Given the description of an element on the screen output the (x, y) to click on. 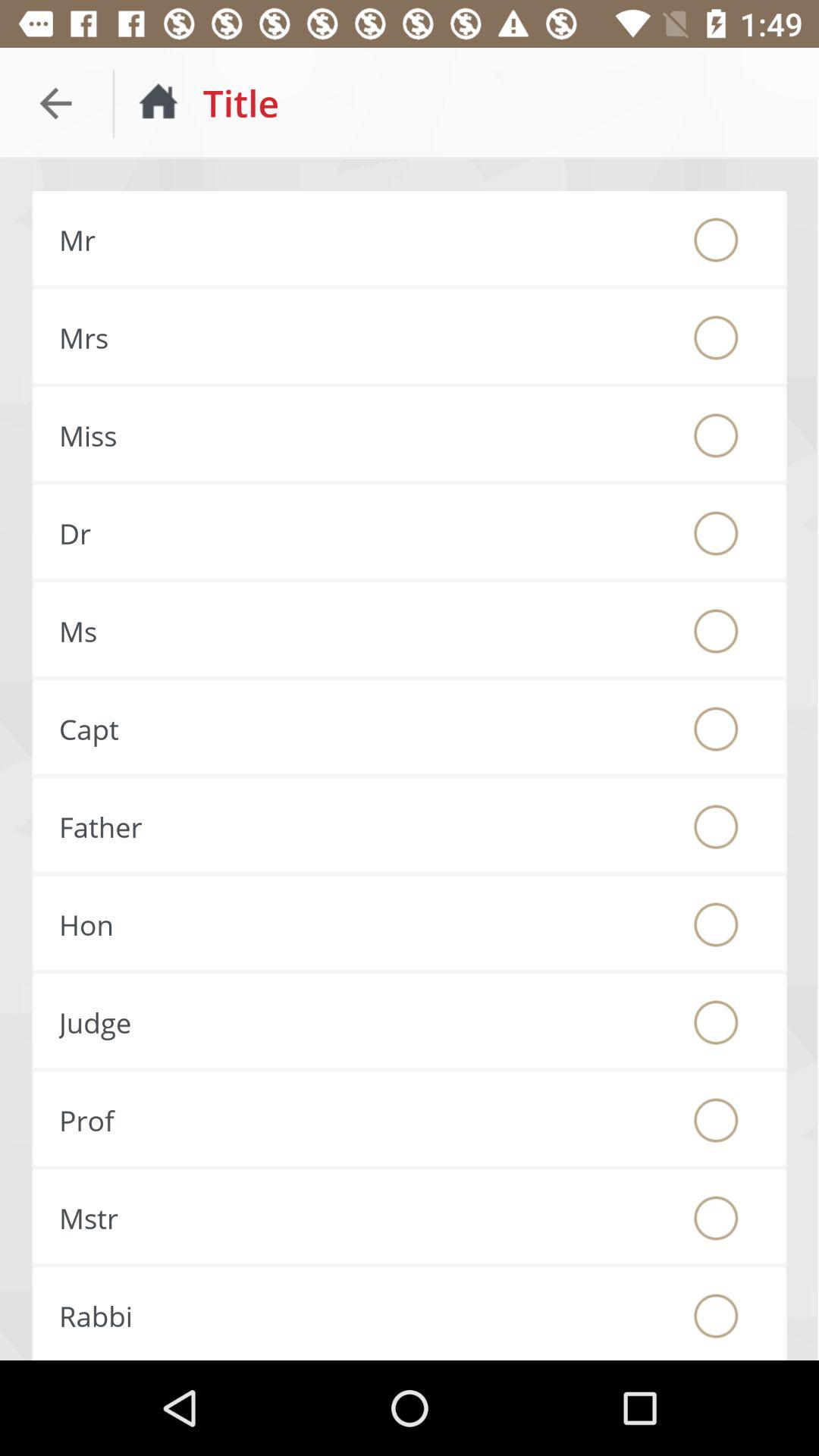
chose title prof (715, 1120)
